Given the description of an element on the screen output the (x, y) to click on. 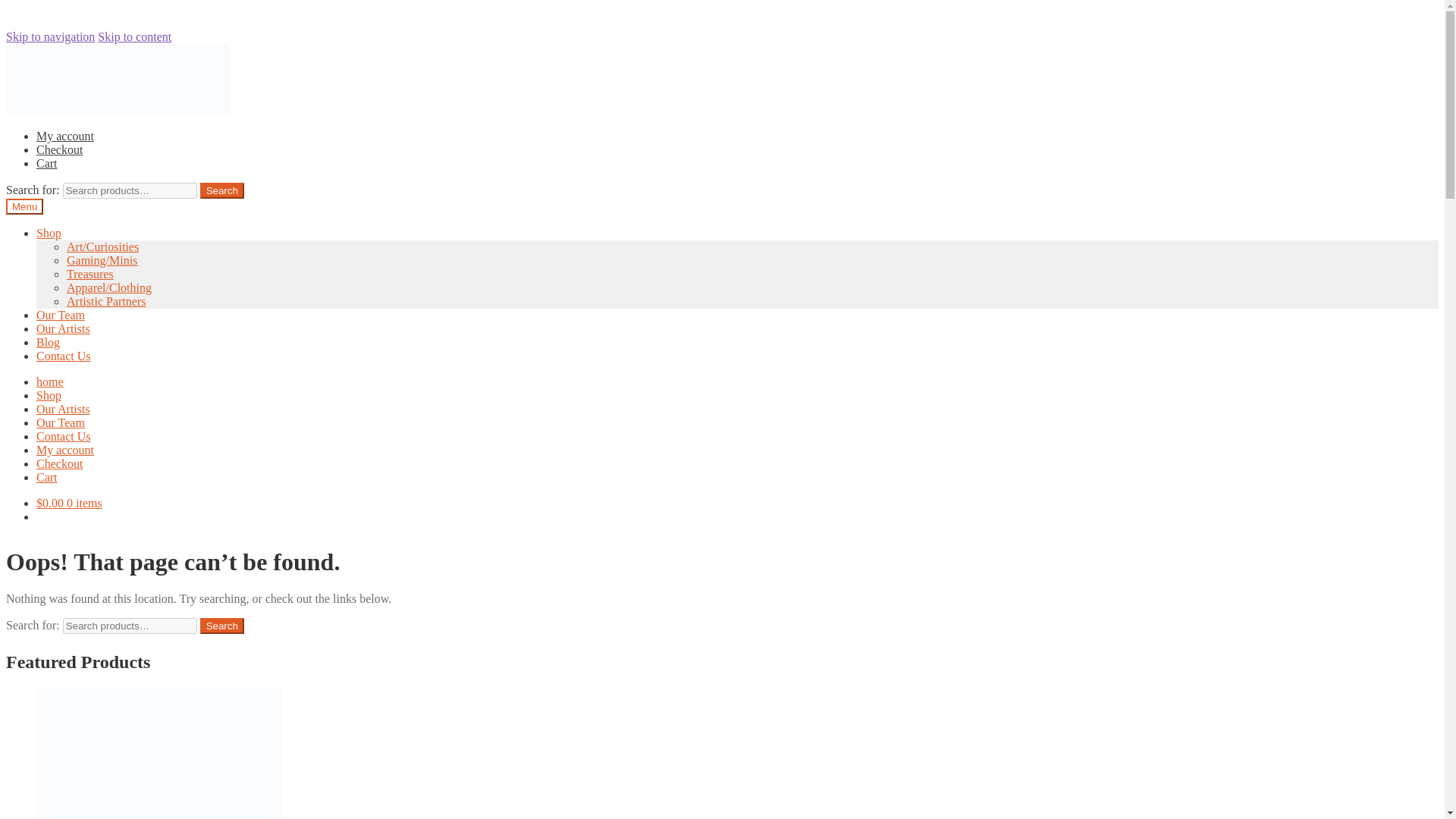
Shop (48, 395)
home (50, 381)
Search (222, 190)
Checkout (59, 463)
Contact Us (63, 355)
Blog (47, 341)
Our Team (60, 422)
Artistic Partners (105, 300)
Cart (47, 477)
Checkout (59, 149)
Search (222, 625)
My account (65, 135)
Skip to content (134, 36)
Treasures (89, 273)
Our Artists (63, 328)
